Given the description of an element on the screen output the (x, y) to click on. 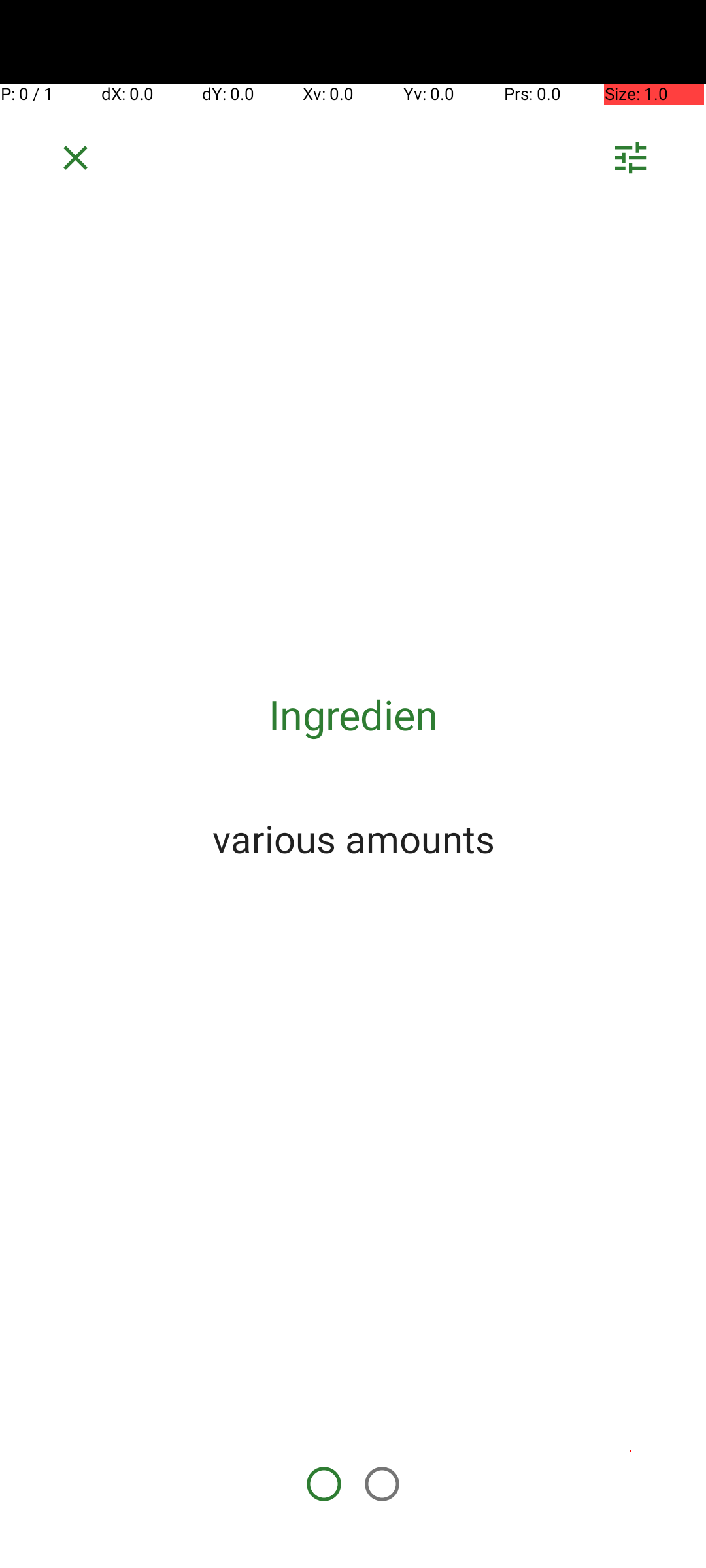
various amounts Element type: android.widget.TextView (352, 838)
